Given the description of an element on the screen output the (x, y) to click on. 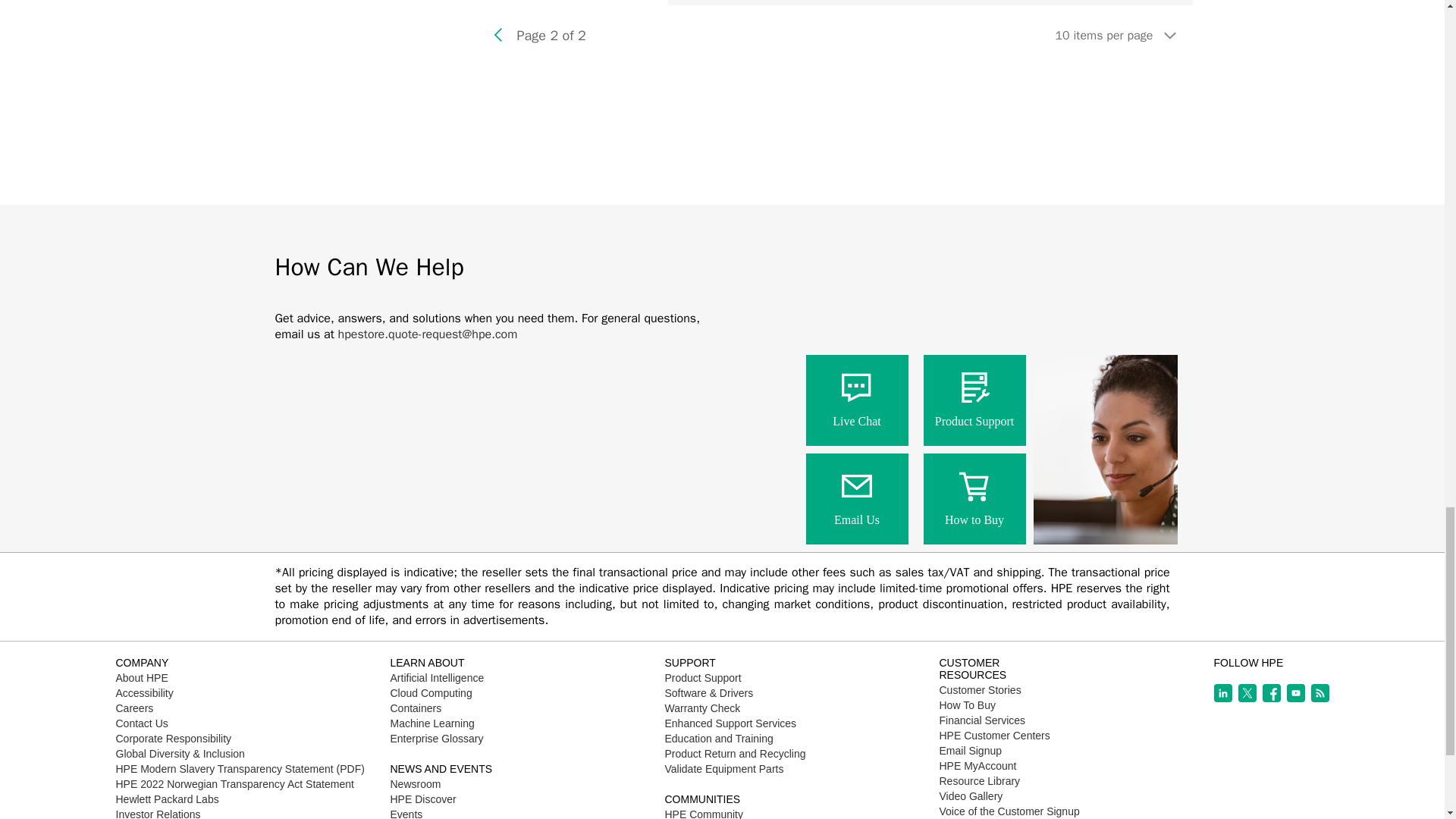
Facebook - new window (1270, 692)
LinkedIn - new window (1221, 692)
YouTube - new window (1294, 692)
X - new window (1246, 692)
